Given the description of an element on the screen output the (x, y) to click on. 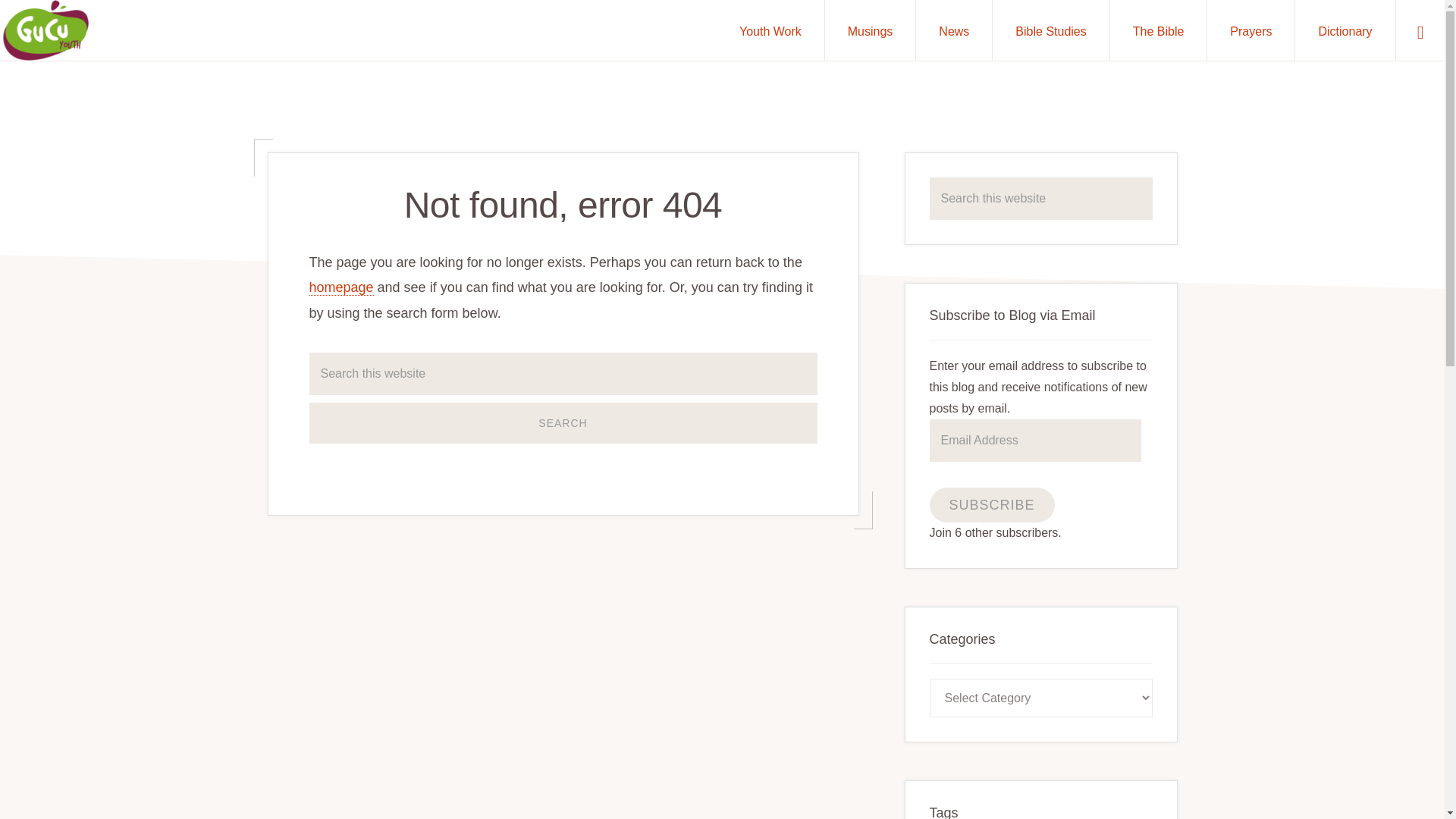
Bible Studies (1050, 30)
Dictionary (1344, 30)
The Bible (1158, 30)
SUBSCRIBE (992, 504)
Search (562, 422)
Youth Work (770, 30)
Search (562, 422)
homepage (341, 287)
